Given the description of an element on the screen output the (x, y) to click on. 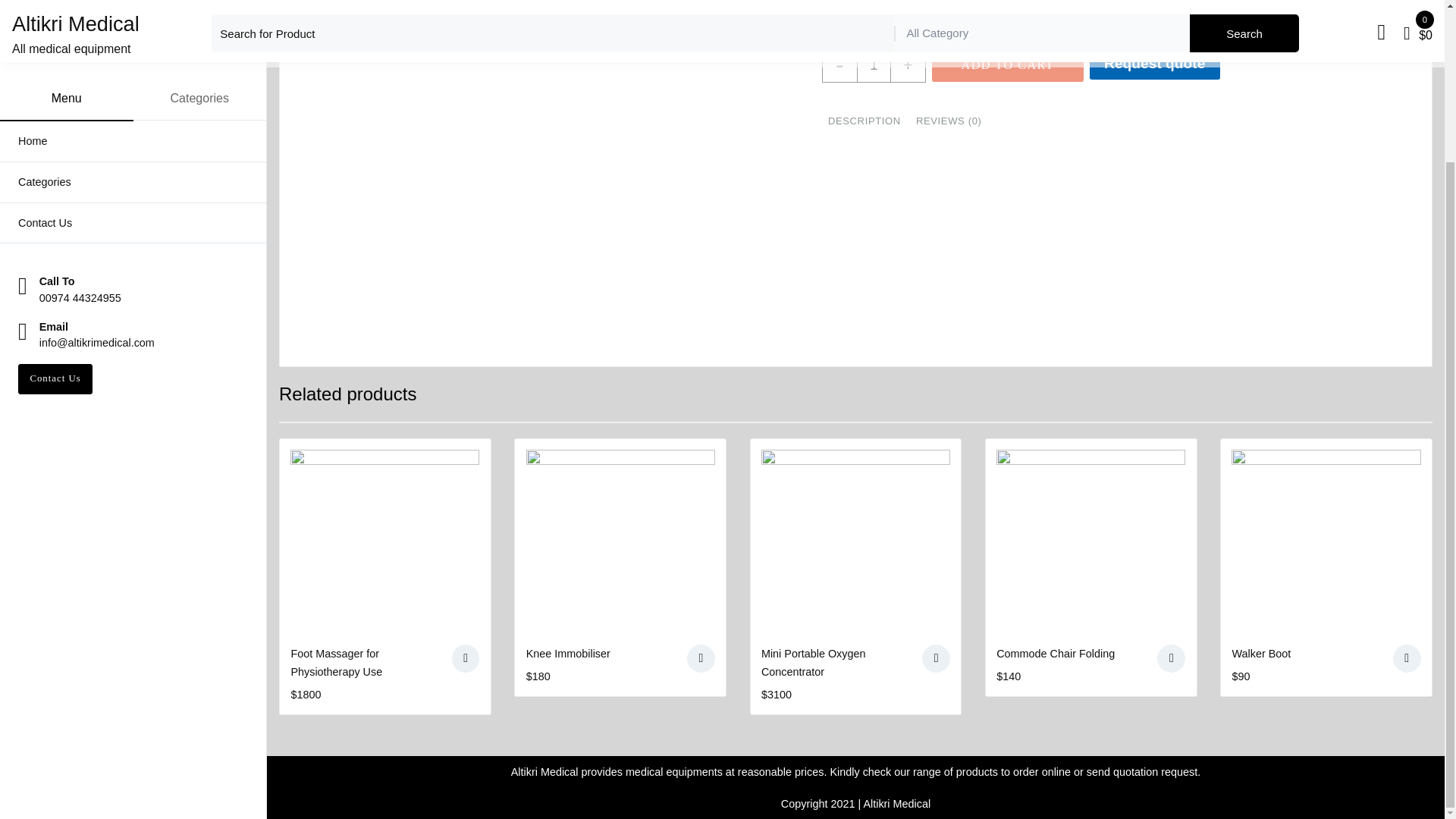
Contact Us (133, 31)
00974 44324955 (79, 106)
1 (874, 64)
Contact Us (55, 186)
Qty (874, 64)
Categories (133, 5)
